Given the description of an element on the screen output the (x, y) to click on. 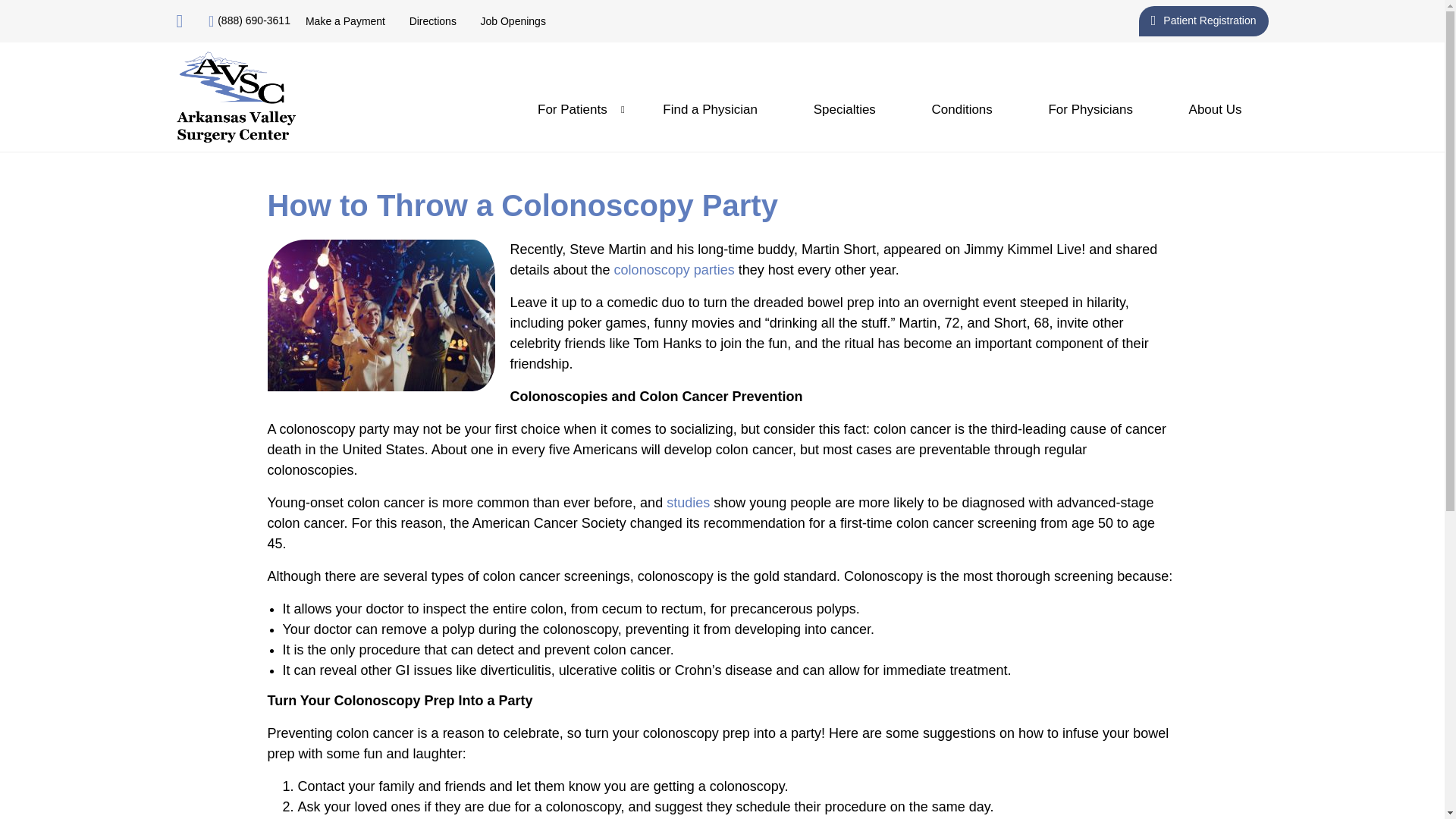
About Us (1215, 109)
Conditions (961, 109)
Patient Registration (1203, 20)
For Physicians (1090, 109)
Make a Payment (345, 21)
Find a Physician (709, 109)
For Patients (572, 109)
Specialties (844, 109)
Directions (433, 21)
Job Openings (513, 21)
Arkansas Valley Surgery Center (235, 96)
